Given the description of an element on the screen output the (x, y) to click on. 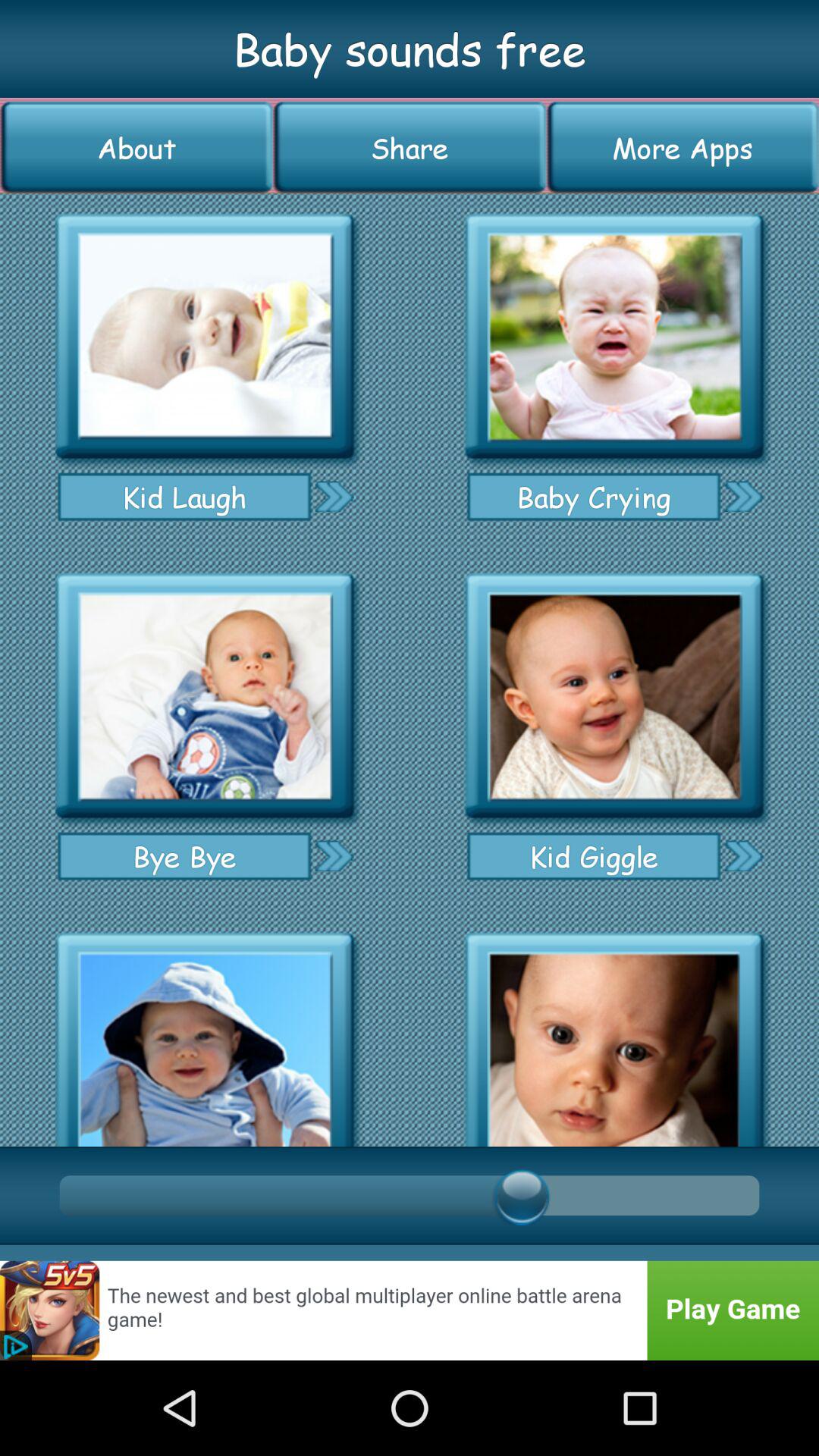
go next (333, 496)
